Given the description of an element on the screen output the (x, y) to click on. 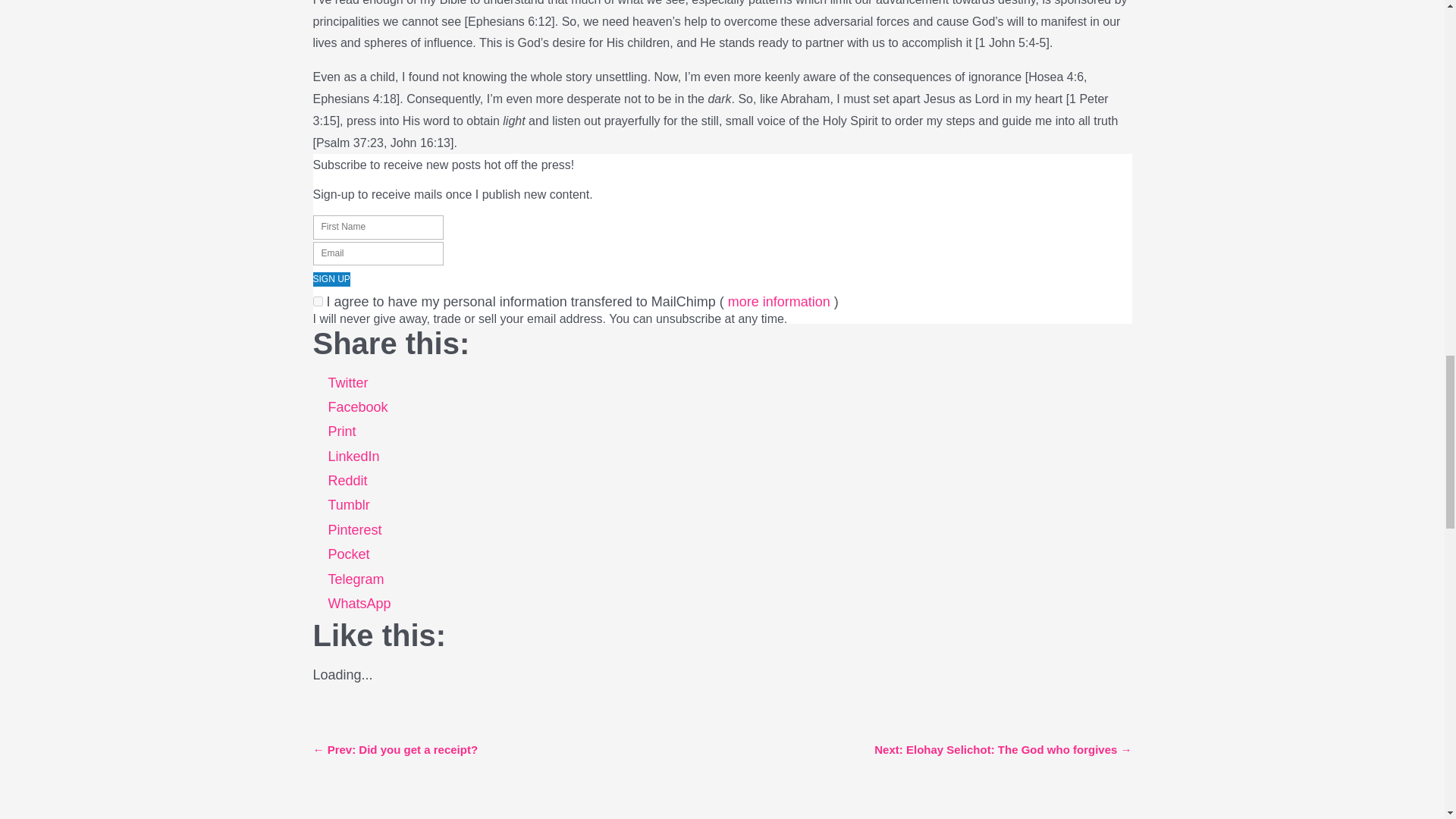
SIGN UP (331, 278)
Telegram (355, 582)
Click to share on Facebook (357, 410)
on (317, 301)
Tumblr (348, 508)
Click to share on Tumblr (348, 508)
Facebook (357, 410)
LinkedIn (352, 459)
Click to print (341, 435)
more information (778, 305)
